Given the description of an element on the screen output the (x, y) to click on. 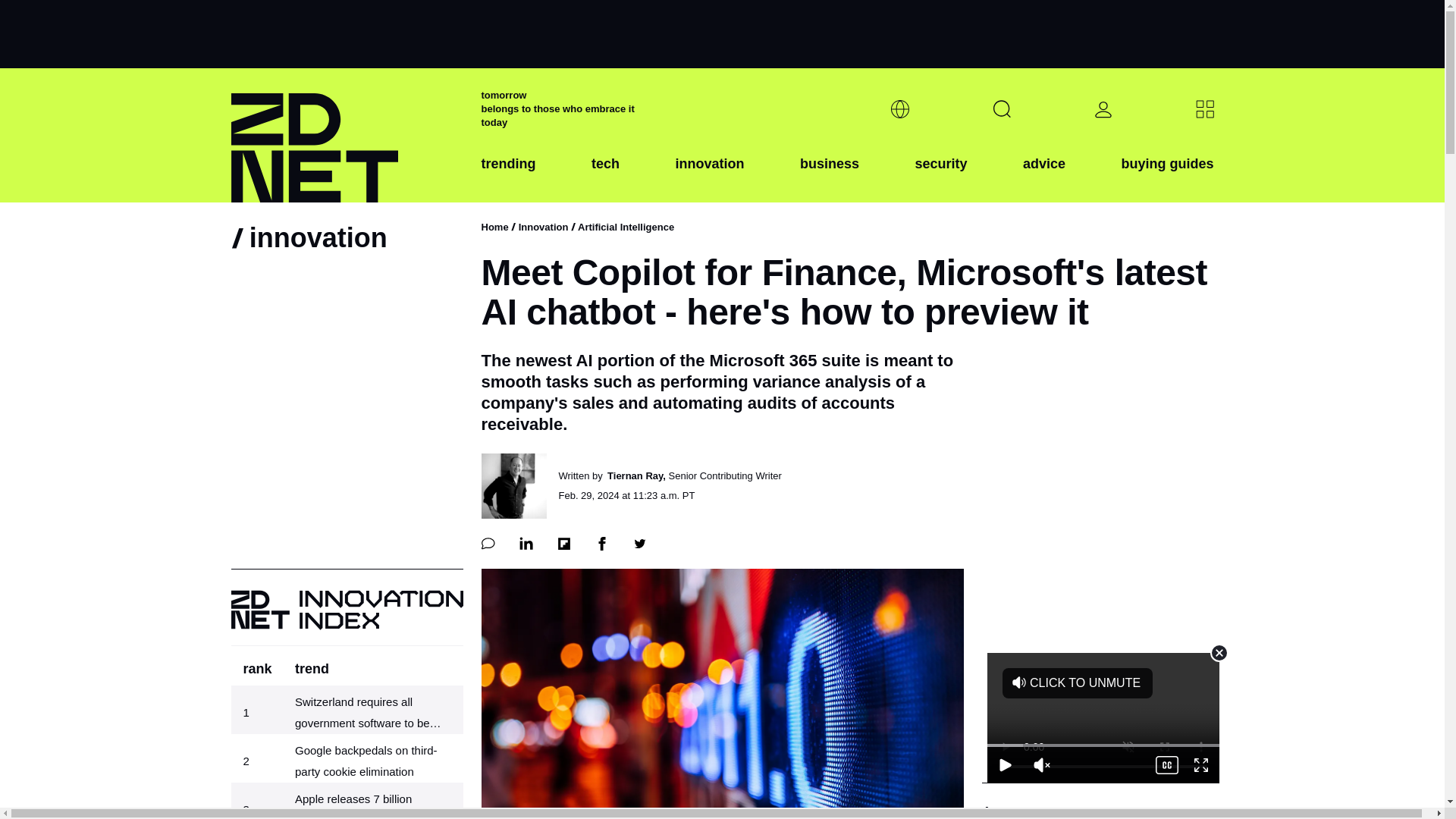
ZDNET (346, 134)
Advertisement (1103, 717)
trending (507, 175)
Play (1005, 764)
3rd party ad content (721, 33)
